Given the description of an element on the screen output the (x, y) to click on. 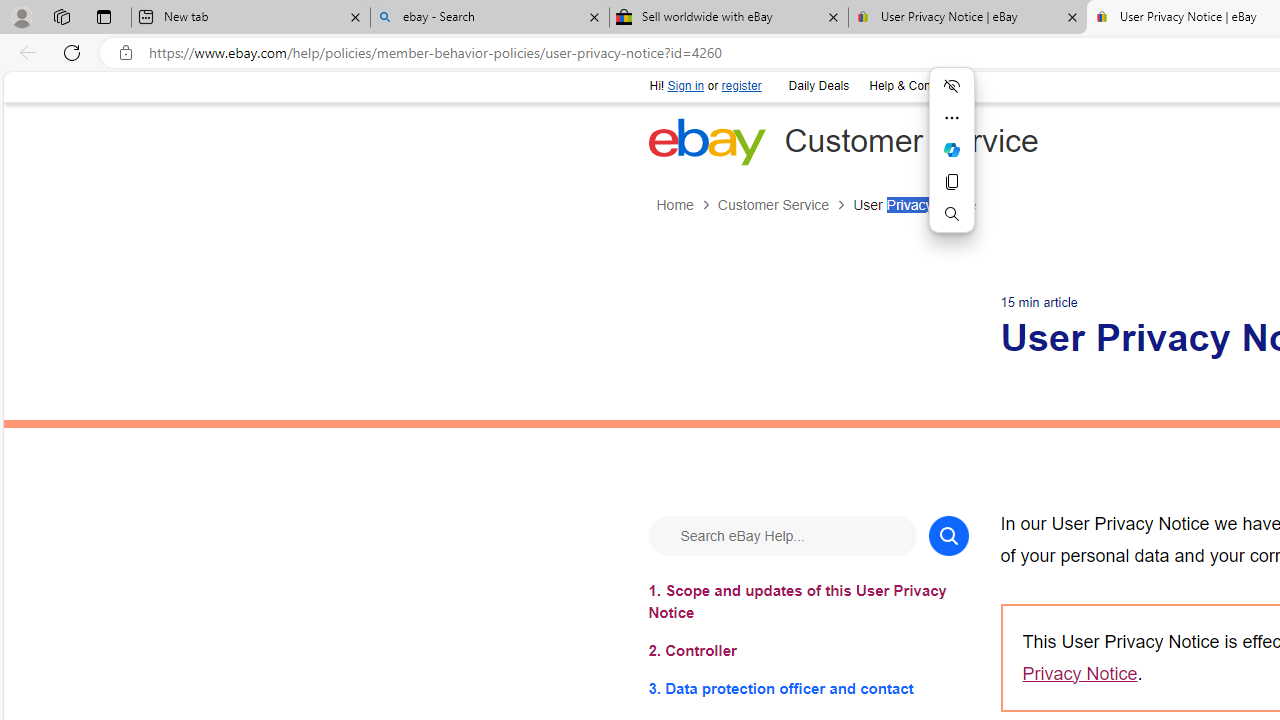
3. Data protection officer and contact (807, 687)
Search eBay Help... (781, 534)
register (740, 85)
1. Scope and updates of this User Privacy Notice (807, 601)
Ask Copilot (952, 149)
User Privacy Notice (914, 205)
eBay Home (706, 141)
2. Controller (807, 650)
Help & Contact (909, 86)
